Given the description of an element on the screen output the (x, y) to click on. 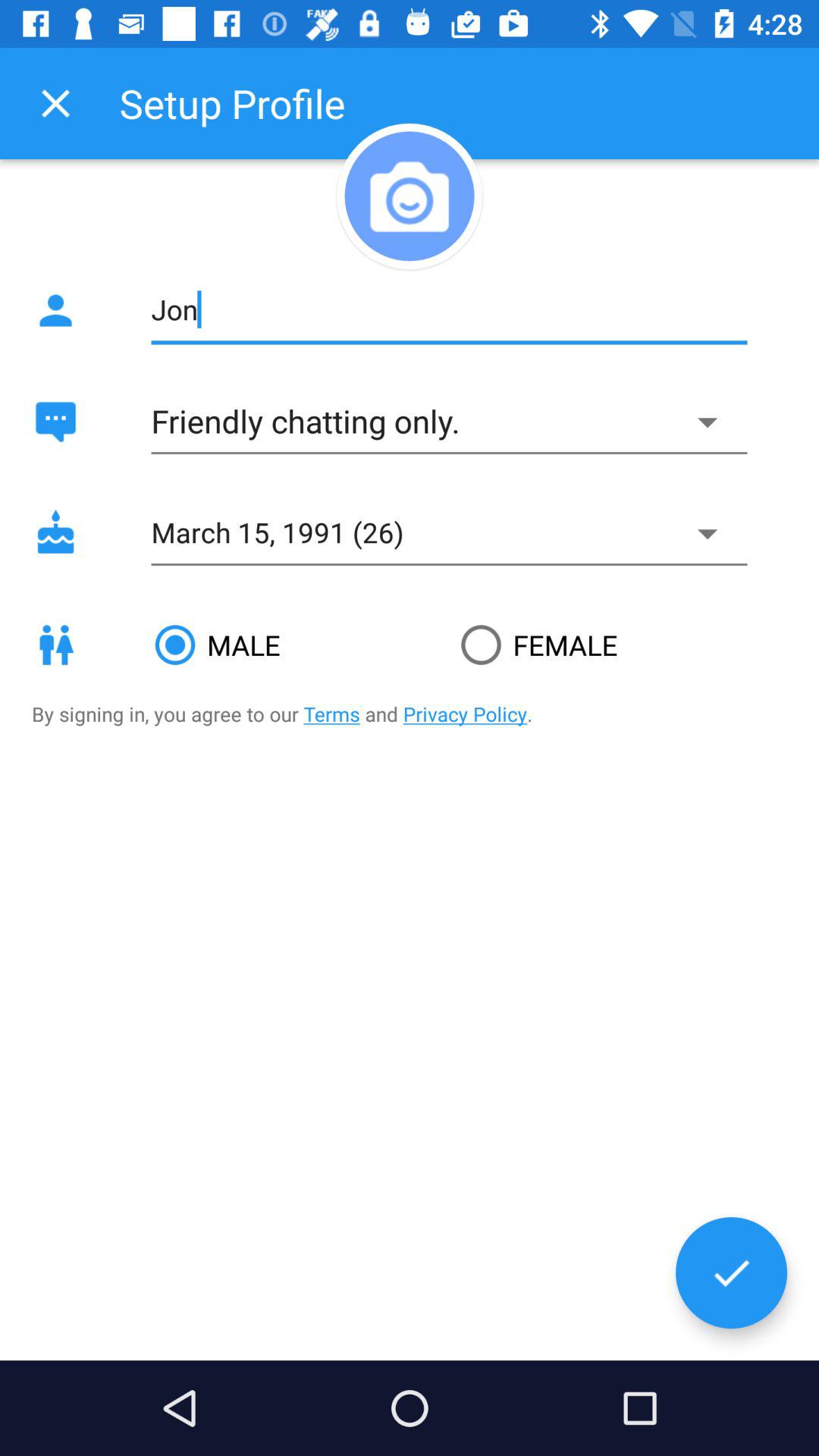
click on the message box image option to the left of friendly chatting only text (55, 421)
go to friendly chatting only (449, 422)
click male (296, 644)
select the field which says march 15 1996 26 (449, 533)
click on the icon which below the birthday icon (55, 644)
